Given the description of an element on the screen output the (x, y) to click on. 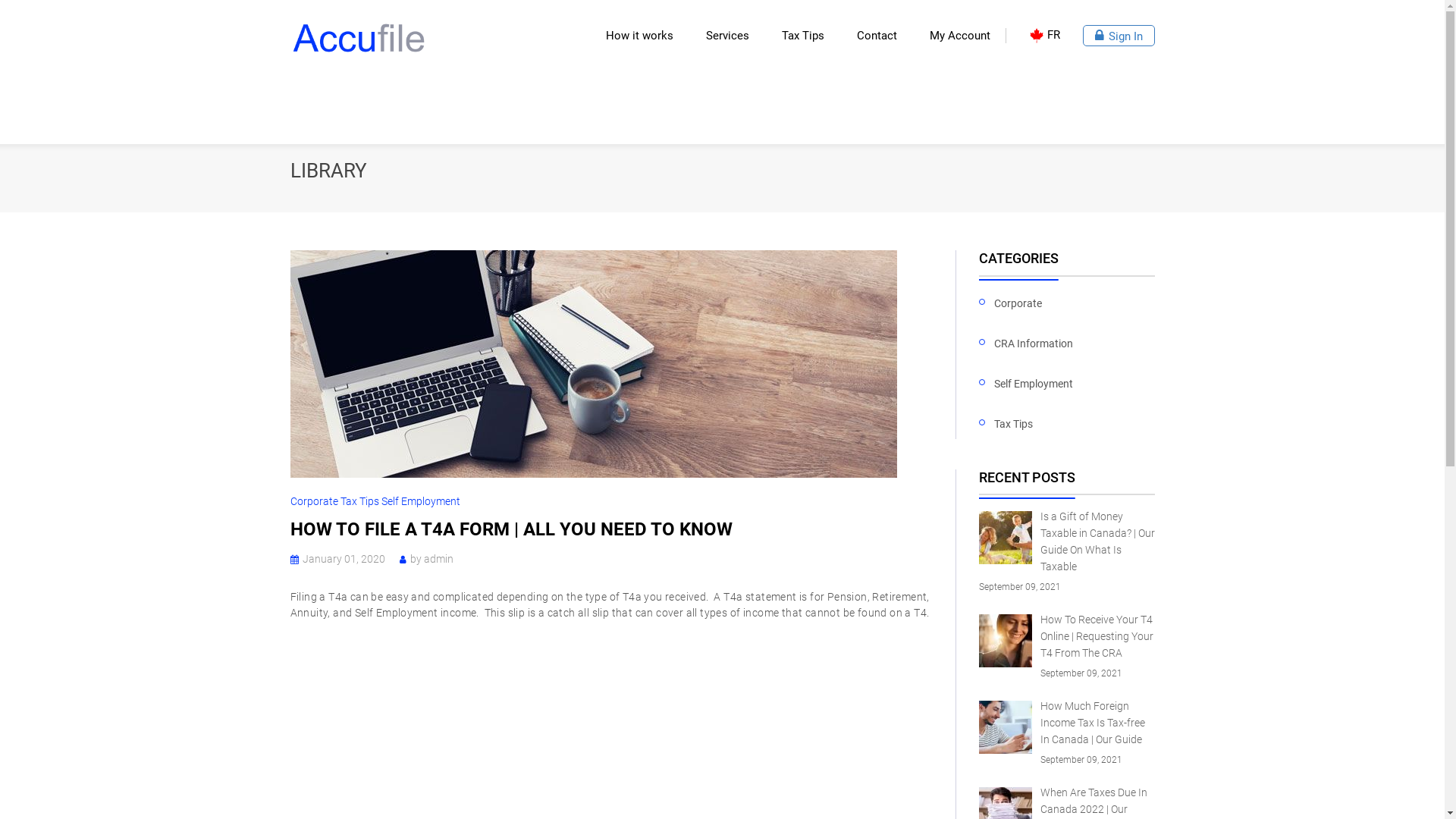
HOW TO FILE A T4A FORM | ALL YOU NEED TO KNOW Element type: text (510, 528)
Corporate Element type: text (1017, 303)
Sign In Element type: text (1118, 35)
My Account Element type: text (959, 35)
FR Element type: text (1043, 34)
Tax Tips Element type: text (1013, 424)
Tax Tips Element type: text (807, 34)
Corporate Element type: text (314, 501)
Contact Element type: text (881, 34)
Services Element type: text (731, 34)
CRA Information Element type: text (1033, 343)
Self Employment Element type: text (419, 501)
by admin Element type: text (430, 558)
January 01, 2020 Element type: text (342, 558)
Self Employment Element type: text (1033, 384)
Tax Tips Element type: text (359, 501)
How it works Element type: text (643, 34)
